Given the description of an element on the screen output the (x, y) to click on. 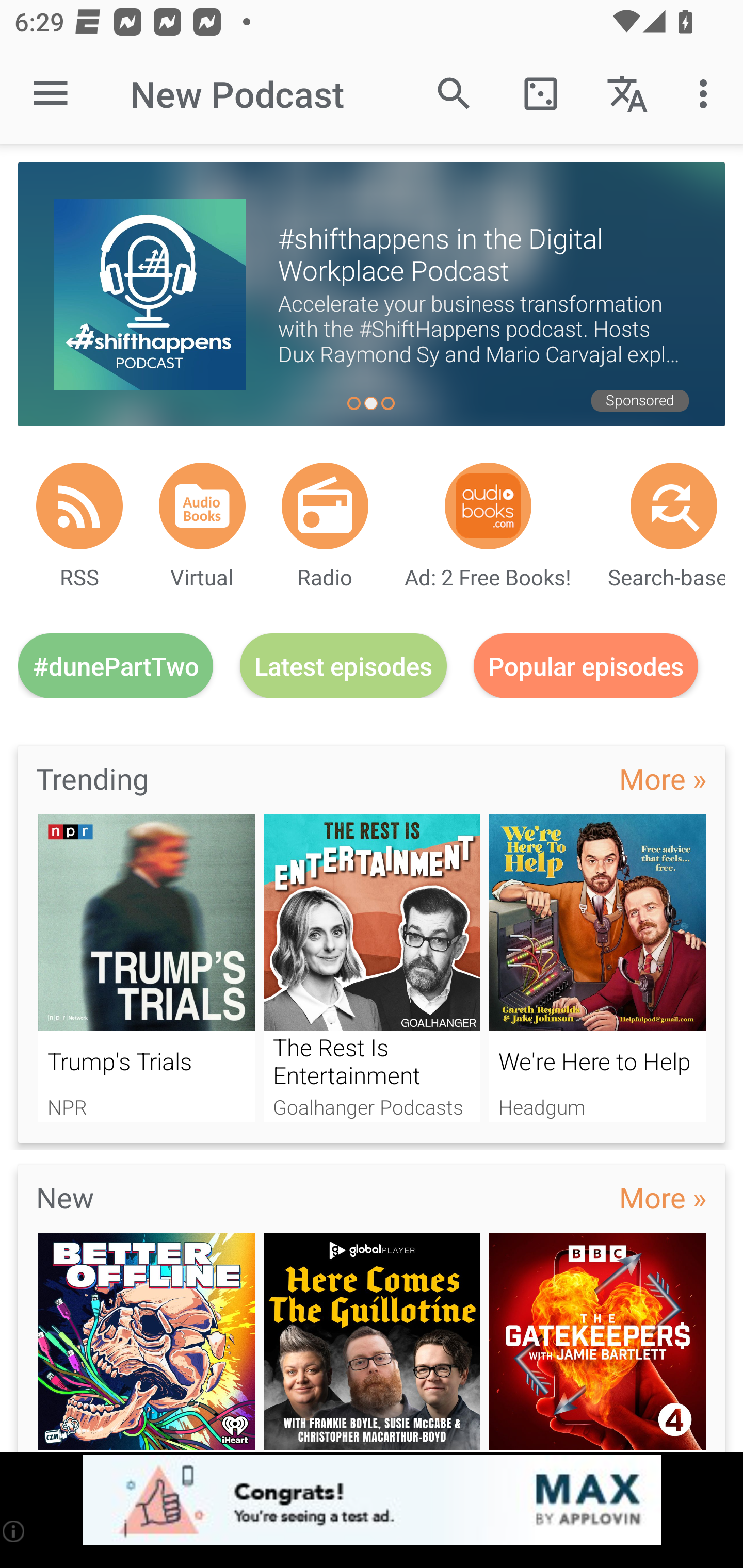
Open navigation sidebar (50, 93)
Search (453, 93)
Random pick (540, 93)
Podcast languages (626, 93)
More options (706, 93)
RSS (79, 505)
Virtual (202, 505)
Radio (324, 505)
Search-based (673, 505)
#dunePartTwo (115, 665)
Latest episodes (342, 665)
Popular episodes (586, 665)
More » (662, 778)
Trump's Trials NPR (145, 967)
The Rest Is Entertainment Goalhanger Podcasts (371, 967)
We're Here to Help Headgum (596, 967)
More » (662, 1196)
Better Offline (145, 1342)
Here Comes The Guillotine (371, 1342)
The Gatekeepers (596, 1342)
app-monetization (371, 1500)
(i) (14, 1531)
